Given the description of an element on the screen output the (x, y) to click on. 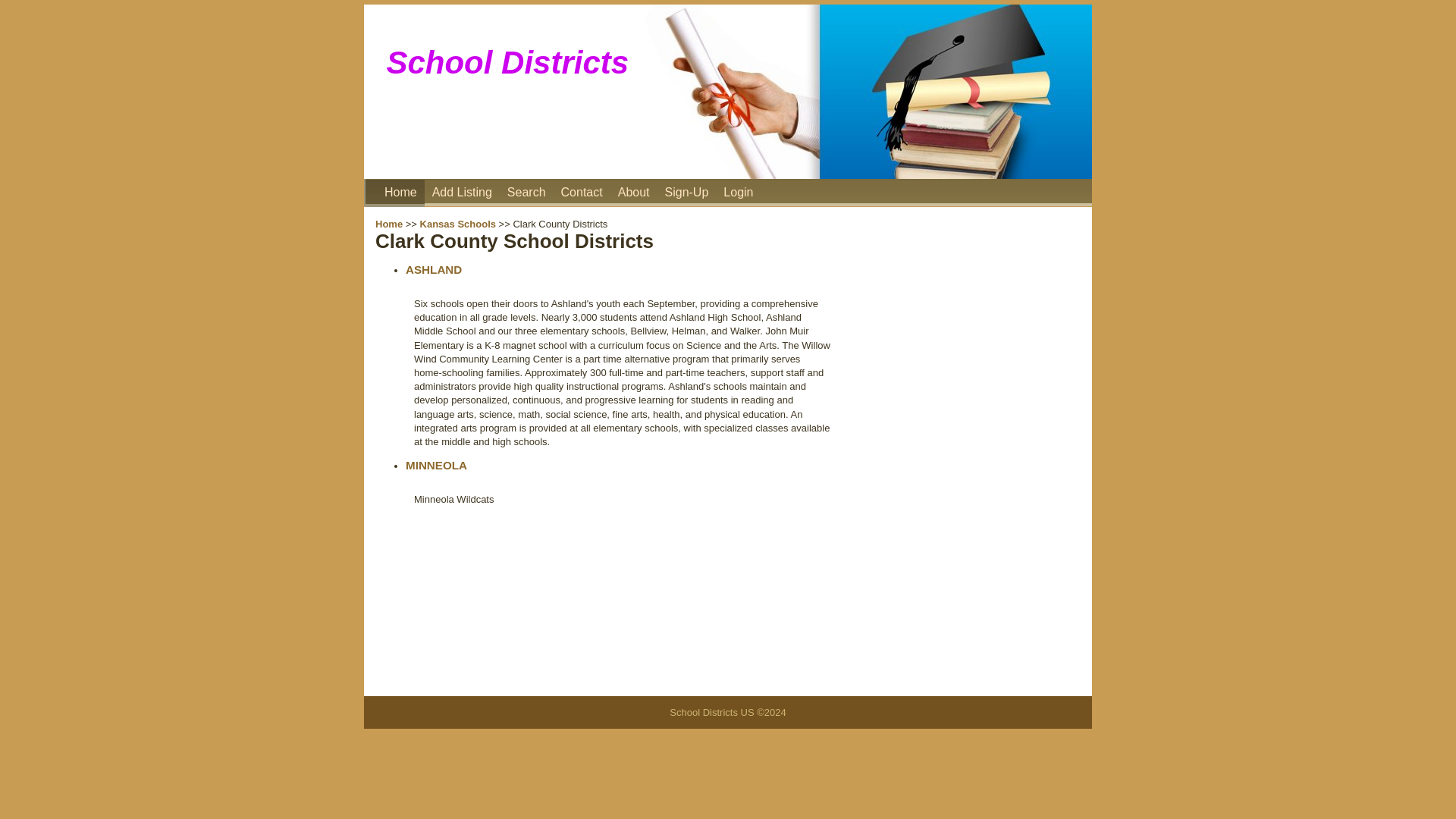
MINNEOLA (436, 464)
Search (526, 192)
Login (737, 192)
Search for Schools (526, 192)
About School Districts (633, 192)
ASHLAND (433, 269)
New Member Signup (687, 192)
Kansas Schools (458, 224)
Sign-Up (687, 192)
About (633, 192)
